Given the description of an element on the screen output the (x, y) to click on. 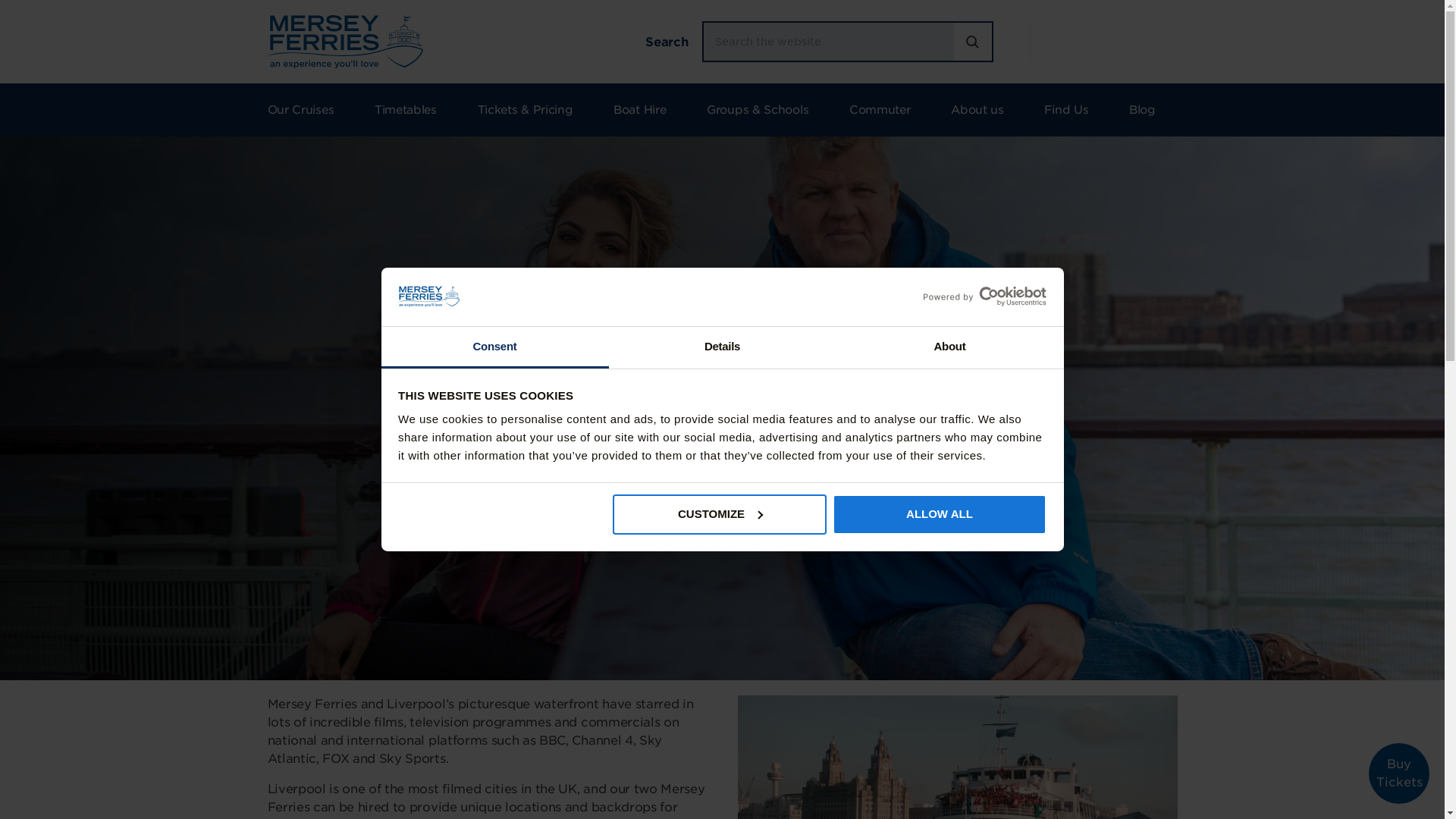
Boat Hire (639, 109)
CUSTOMIZE (719, 514)
About (948, 347)
Details (721, 347)
Consent (494, 347)
About us (977, 109)
Mersey Ferries link, back to home (344, 41)
Find Us (1065, 109)
ALLOW ALL (939, 514)
Our Cruises (309, 109)
Timetables (405, 109)
